Given the description of an element on the screen output the (x, y) to click on. 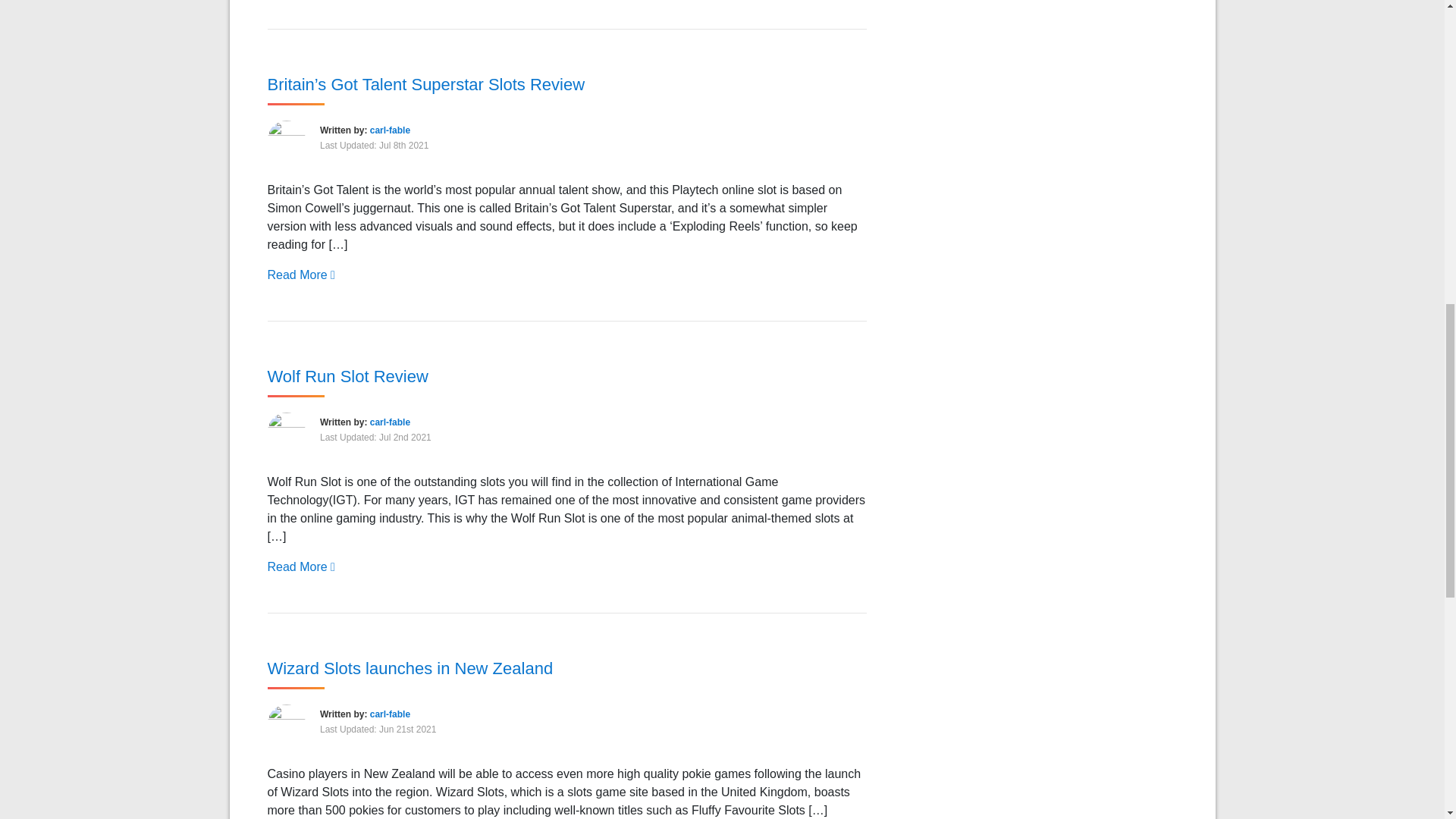
Read More (300, 565)
carl-fable (389, 129)
carl-fable (389, 713)
carl-fable (389, 421)
Wizard Slots launches in New Zealand (409, 667)
Read More (300, 274)
Wolf Run Slot Review (347, 375)
